Given the description of an element on the screen output the (x, y) to click on. 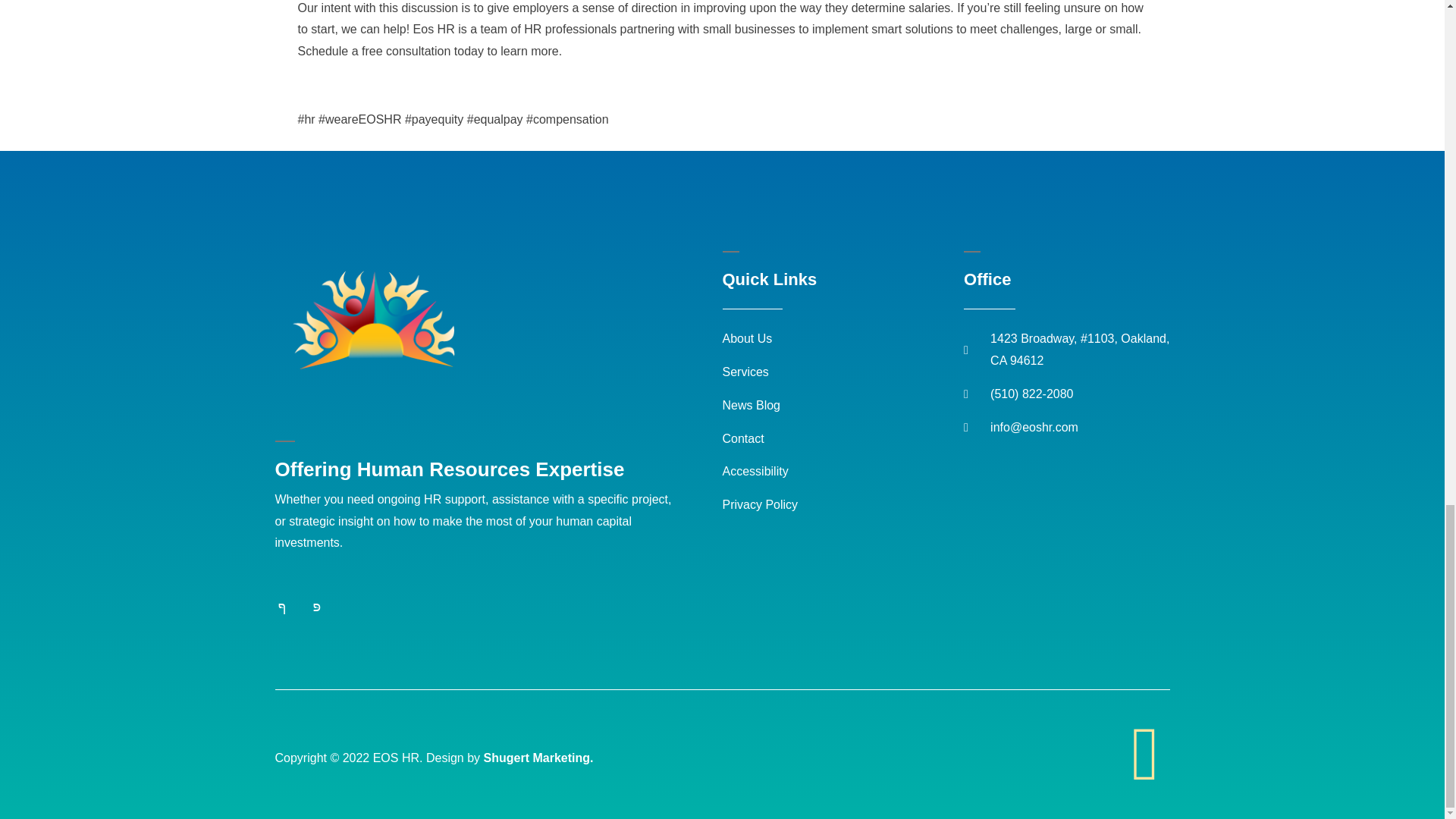
Contact (842, 439)
Shugert Marketing (536, 757)
Services (842, 372)
About Us (842, 339)
Schedule a free consultation (373, 51)
Accessibility (842, 472)
News Blog (842, 405)
Privacy Policy (842, 505)
